Given the description of an element on the screen output the (x, y) to click on. 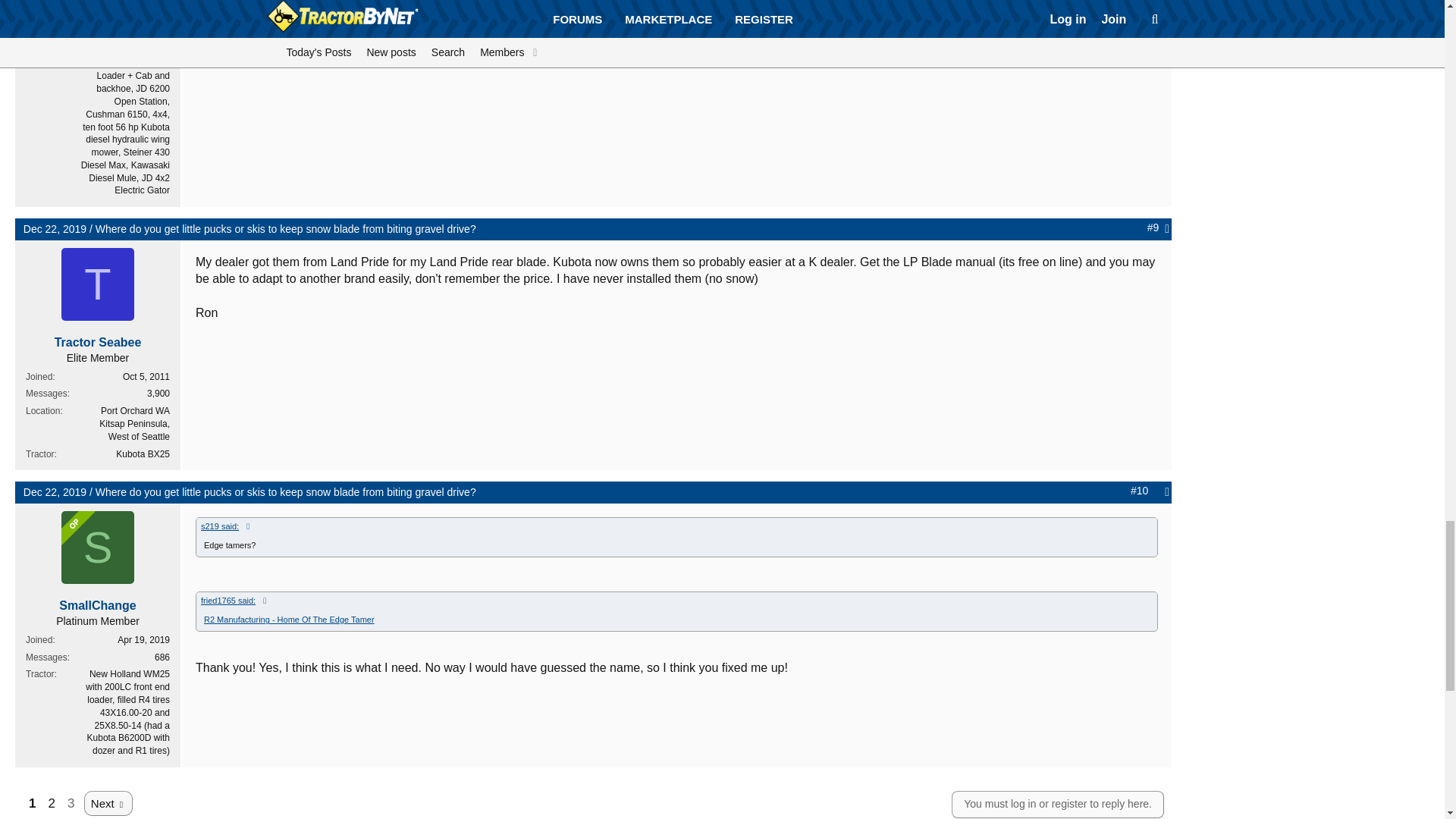
Dec 22, 2019 at 7:42 AM (54, 491)
Dec 22, 2019 at 12:08 AM (54, 228)
